Given the description of an element on the screen output the (x, y) to click on. 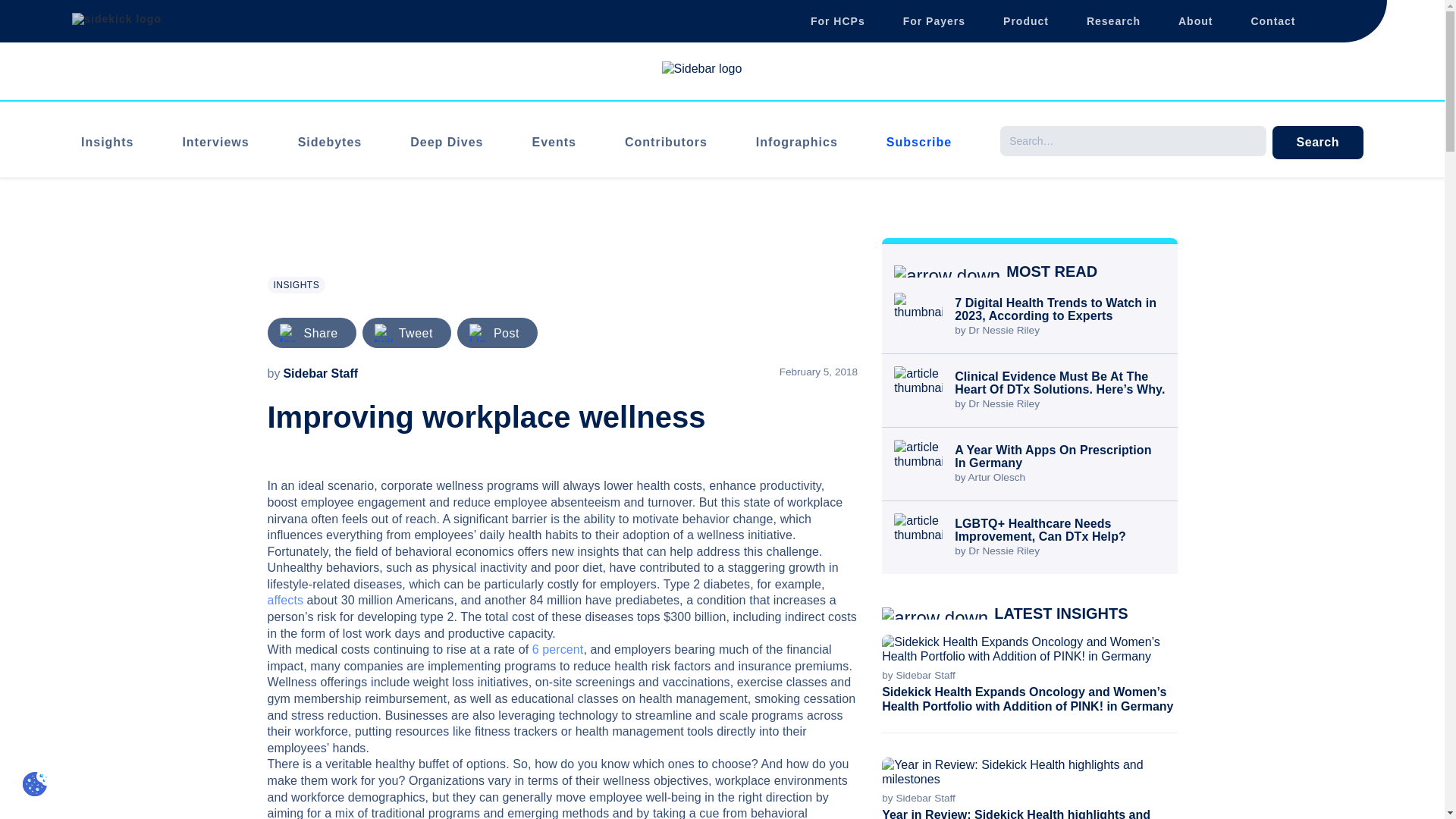
Tweet (415, 332)
Deep Dives (446, 142)
Contact (1272, 20)
Infographics (796, 142)
Post (506, 332)
Share on Facebook (319, 332)
For HCPs (837, 20)
Sidebytes (330, 142)
Insights (107, 142)
Interviews (215, 142)
